Given the description of an element on the screen output the (x, y) to click on. 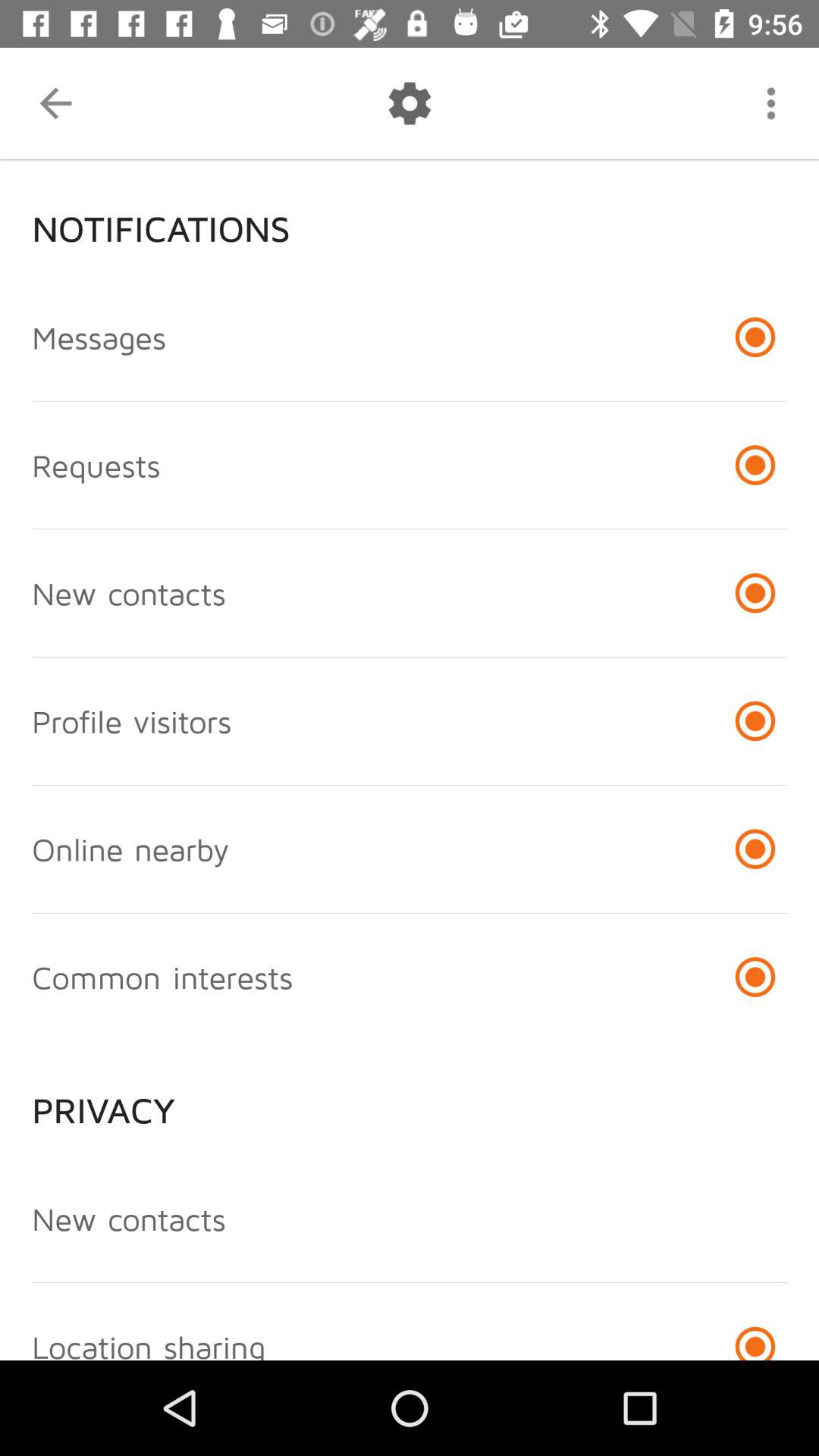
flip to the requests item (95, 464)
